Given the description of an element on the screen output the (x, y) to click on. 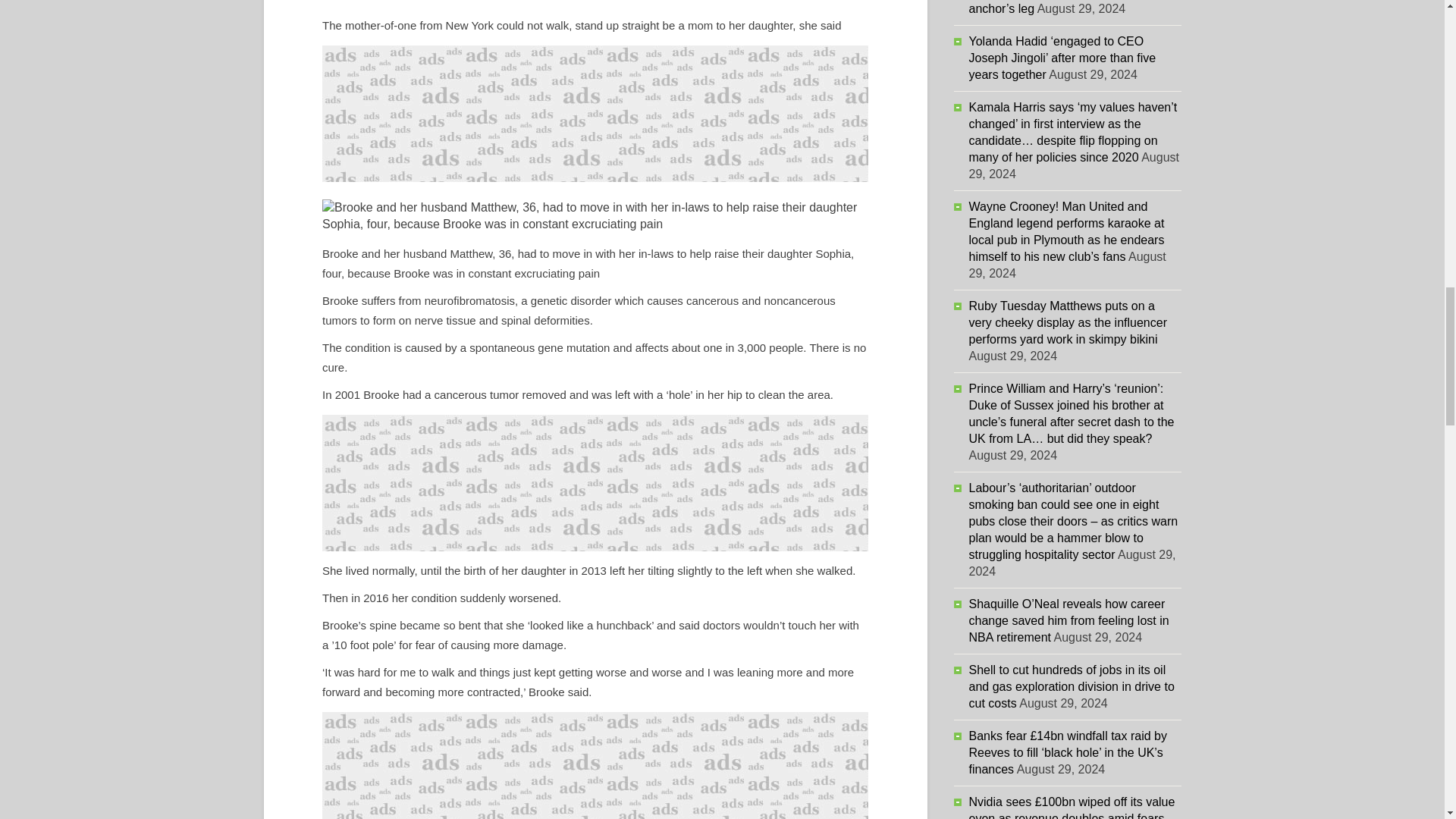
Advertisement (594, 113)
